Given the description of an element on the screen output the (x, y) to click on. 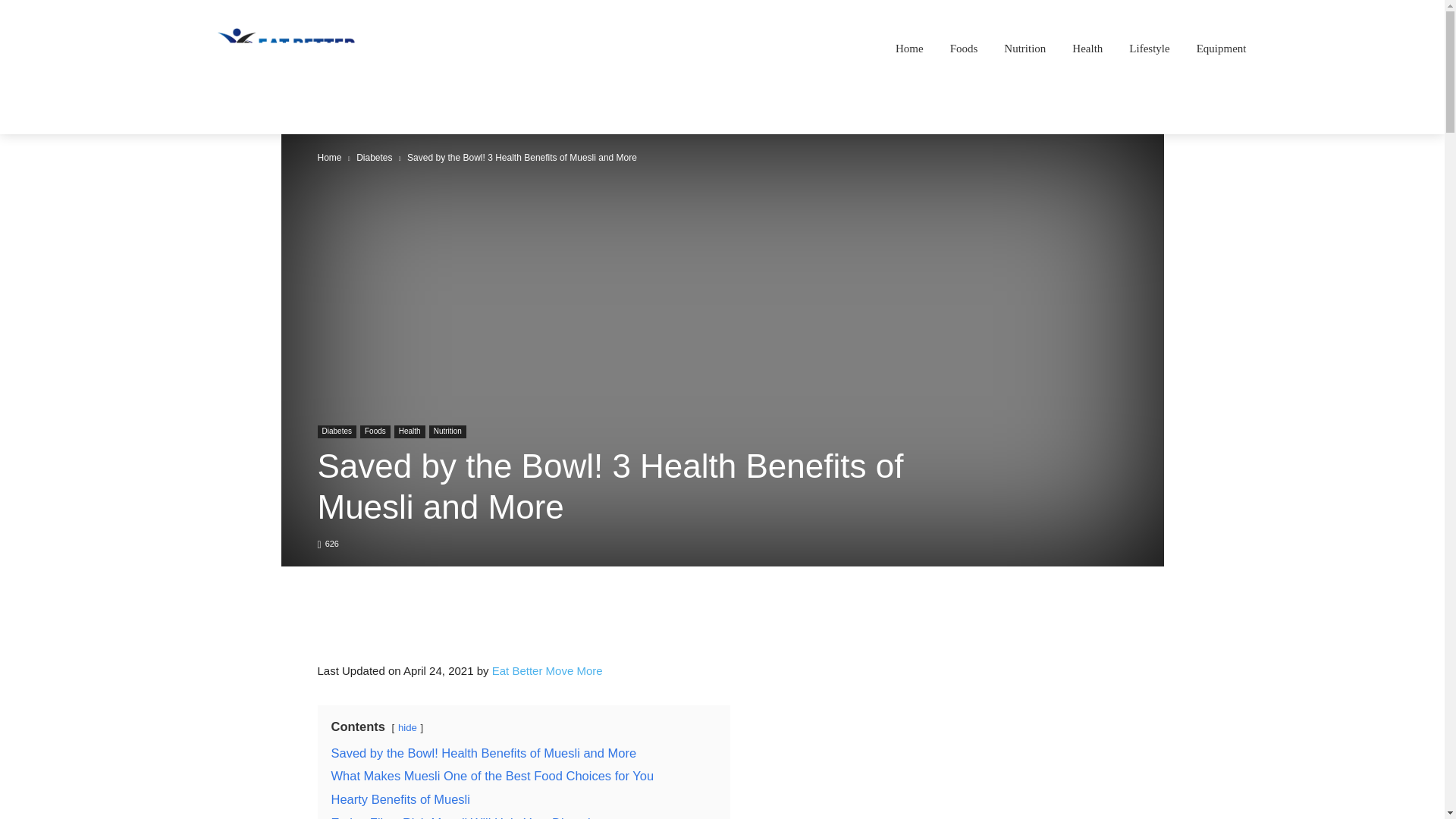
Nutrition (1024, 48)
Home (909, 48)
Foods (963, 48)
